Given the description of an element on the screen output the (x, y) to click on. 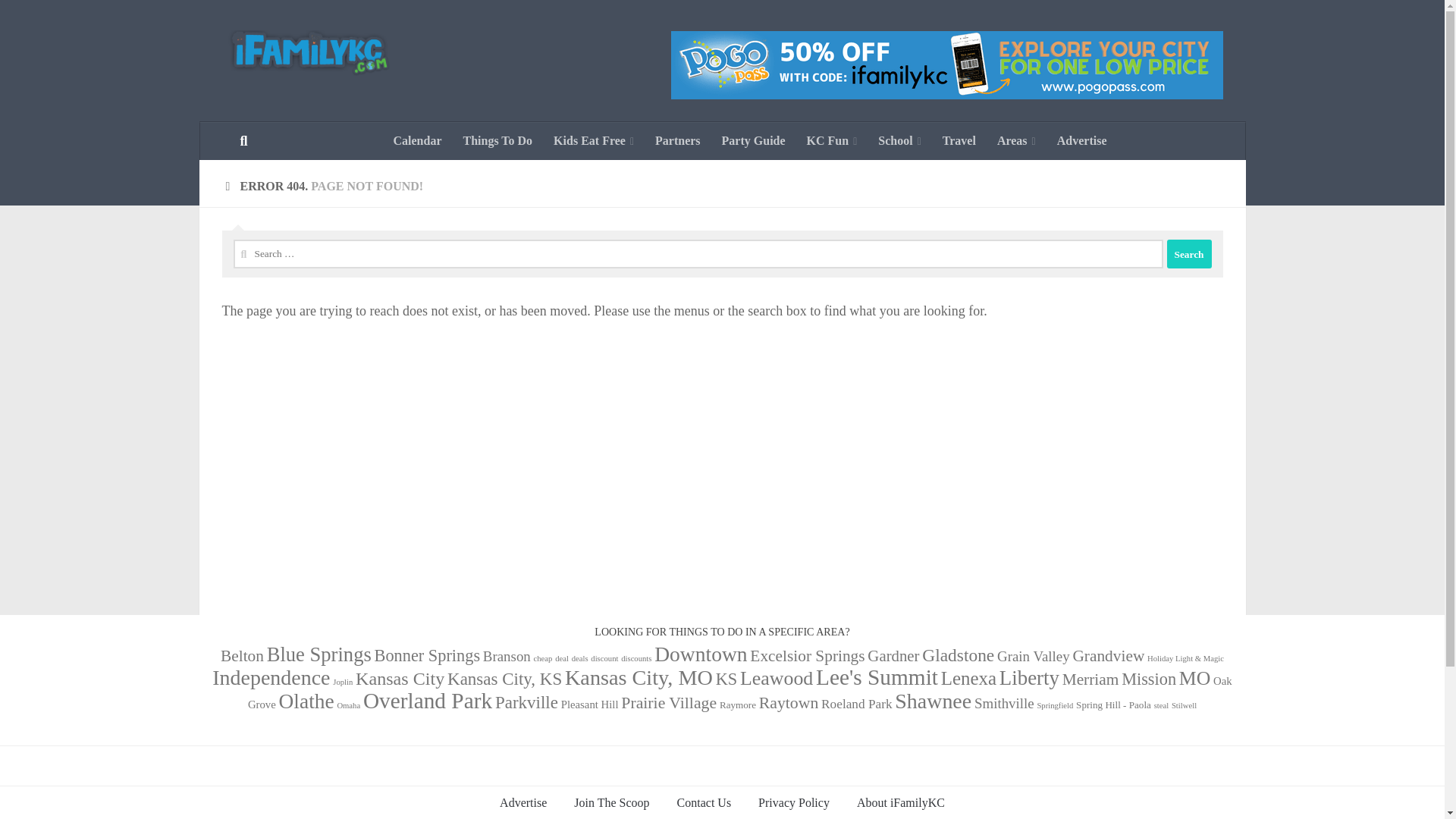
Search (1188, 253)
Search (1188, 253)
Partners (678, 140)
Calendar (416, 140)
Things To Do (497, 140)
Kids Eat Free (594, 140)
Party Guide (753, 140)
Skip to content (59, 20)
KC Fun (831, 140)
